Given the description of an element on the screen output the (x, y) to click on. 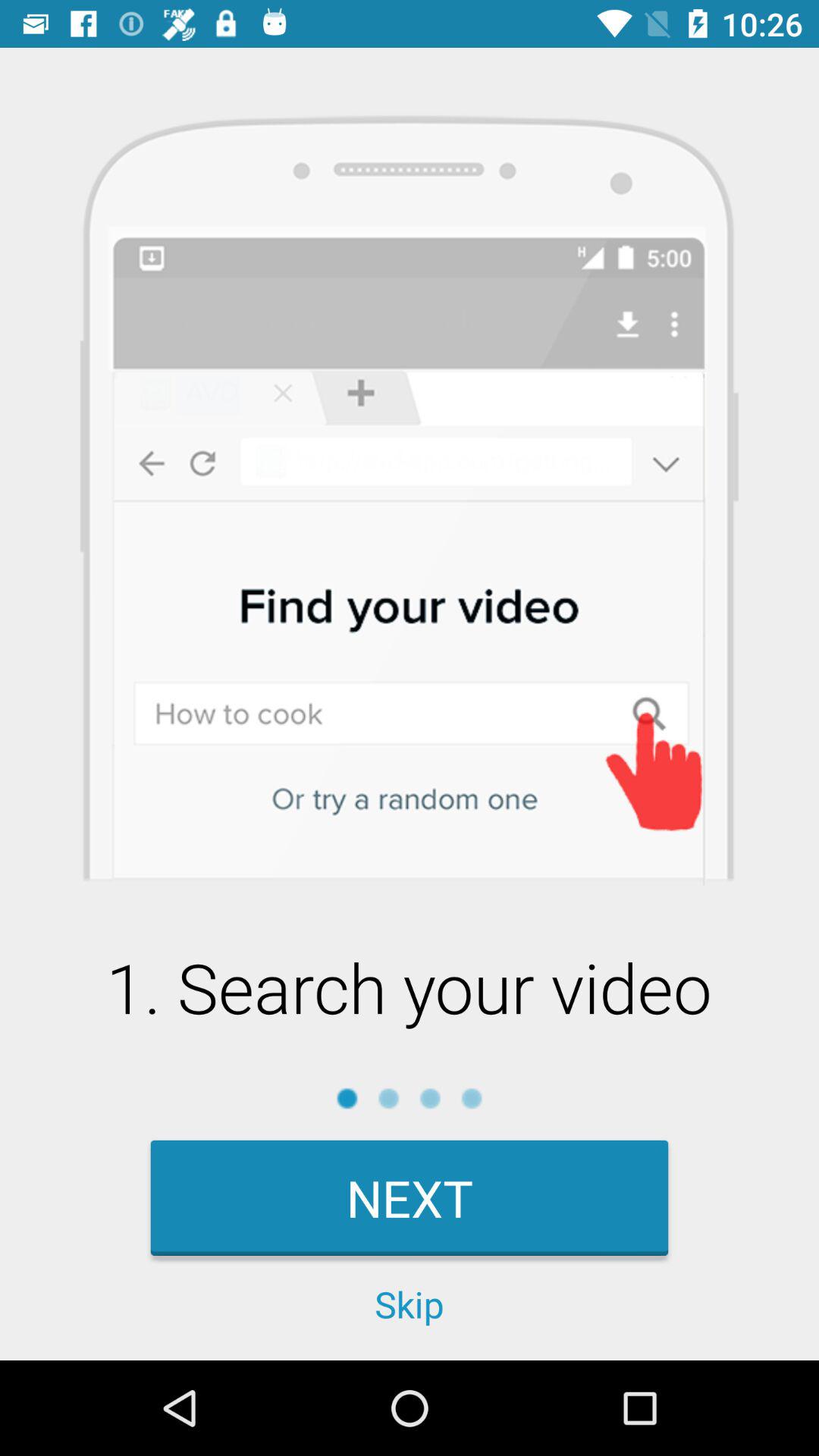
open the icon below the next (409, 1303)
